Given the description of an element on the screen output the (x, y) to click on. 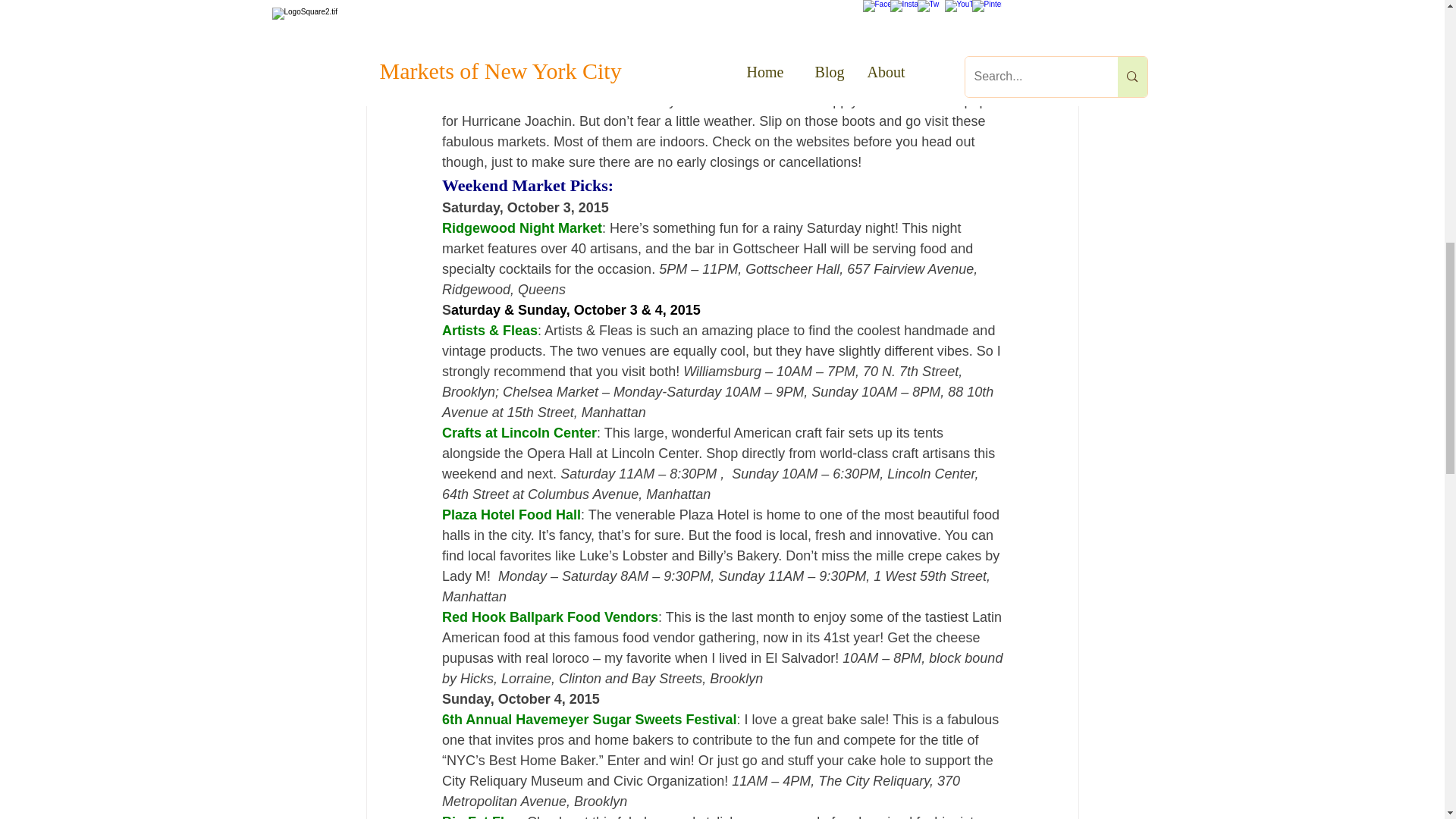
Plaza Hotel Food Hall (510, 514)
Ridgewood Night Market (521, 227)
Red Hook Ballpark Food Vendors (549, 616)
6th Annual Havemeyer Sugar Sweets Festival (588, 719)
Big Fat Flea (479, 816)
Crafts at Lincoln Center (518, 432)
